Given the description of an element on the screen output the (x, y) to click on. 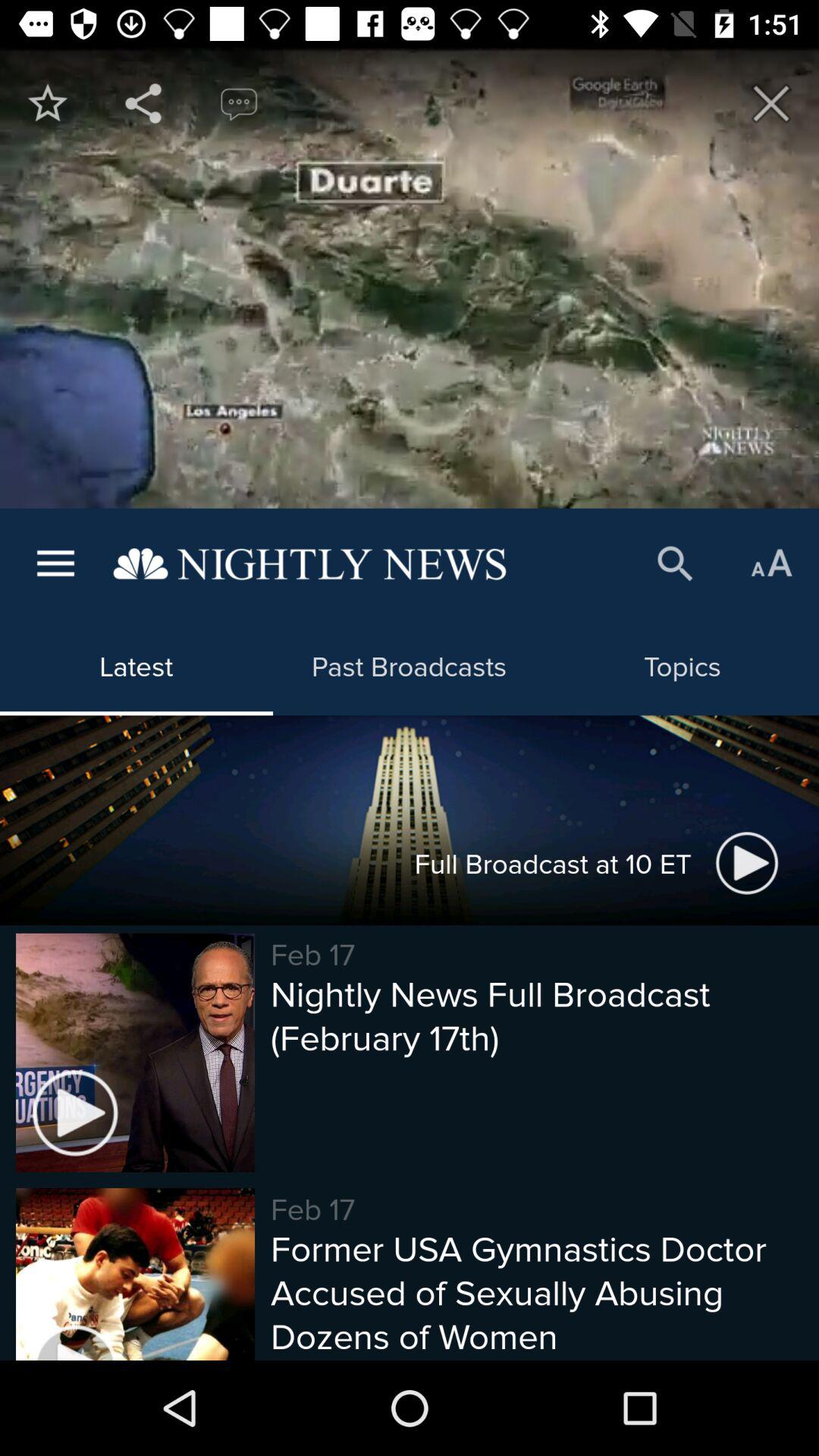
send (143, 103)
